Given the description of an element on the screen output the (x, y) to click on. 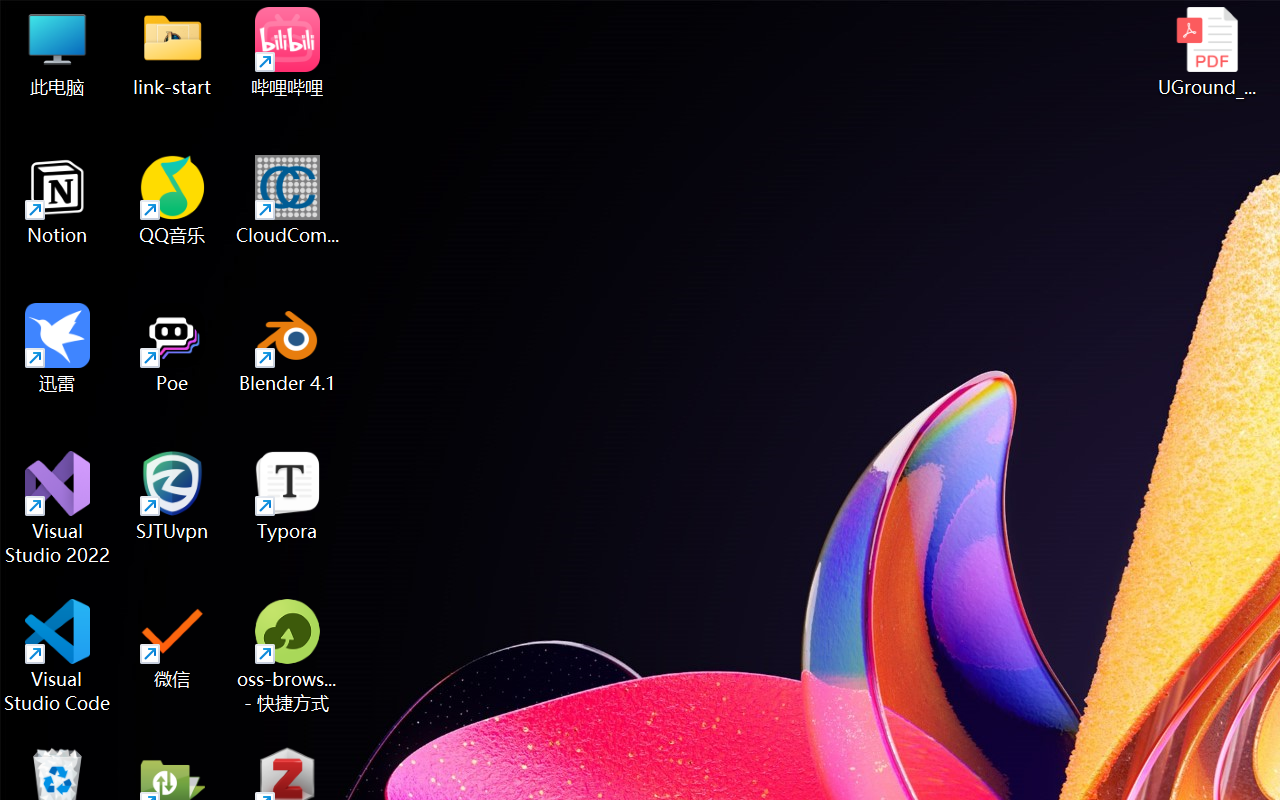
SJTUvpn (172, 496)
UGround_paper.pdf (1206, 52)
Typora (287, 496)
CloudCompare (287, 200)
Blender 4.1 (287, 348)
Visual Studio 2022 (57, 508)
Visual Studio Code (57, 656)
